Given the description of an element on the screen output the (x, y) to click on. 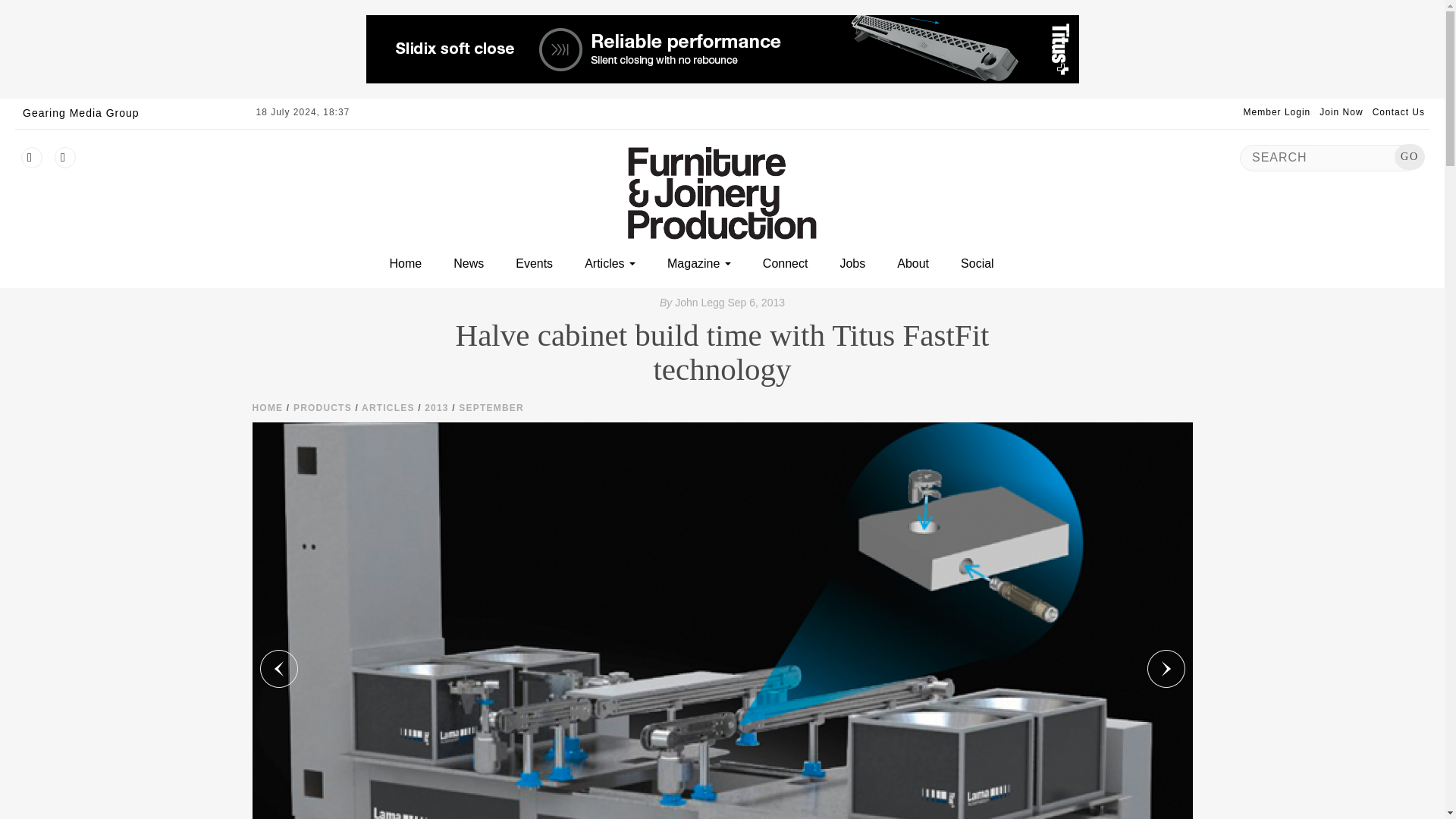
ARTICLES (387, 407)
Join Now (1340, 112)
PRODUCTS (323, 407)
Connect (785, 263)
News (467, 263)
Contact Us (1399, 112)
About (912, 263)
go (1409, 157)
2013 (436, 407)
go (1409, 157)
Follow us on Twitter (31, 157)
Jobs (852, 263)
Magazine (698, 263)
RSS (65, 157)
